Given the description of an element on the screen output the (x, y) to click on. 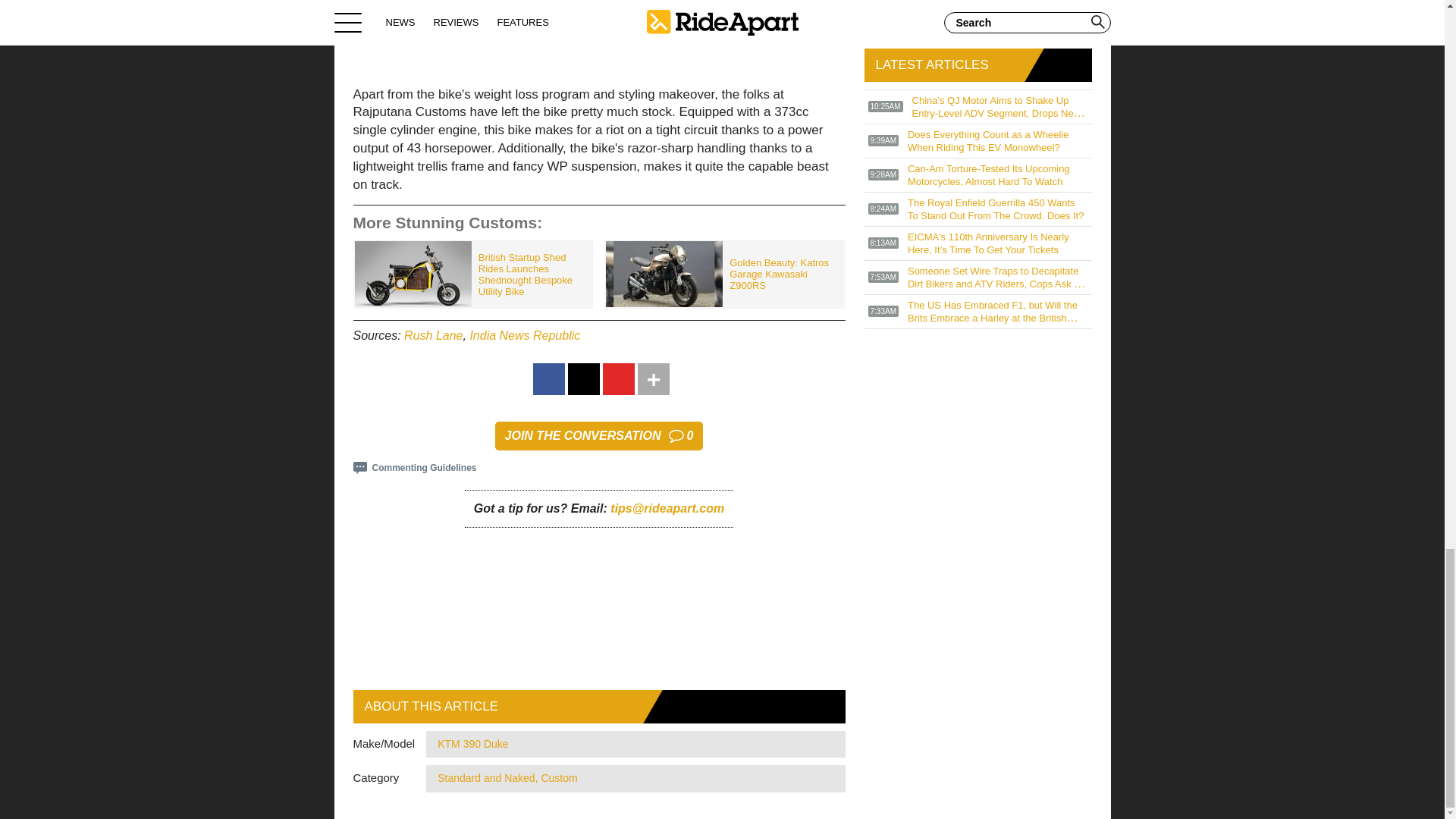
Commenting Guidelines (599, 435)
Rush Lane (415, 467)
Golden Beauty: Katros Garage Kawasaki Z900RS (433, 335)
India News Republic (724, 273)
